Given the description of an element on the screen output the (x, y) to click on. 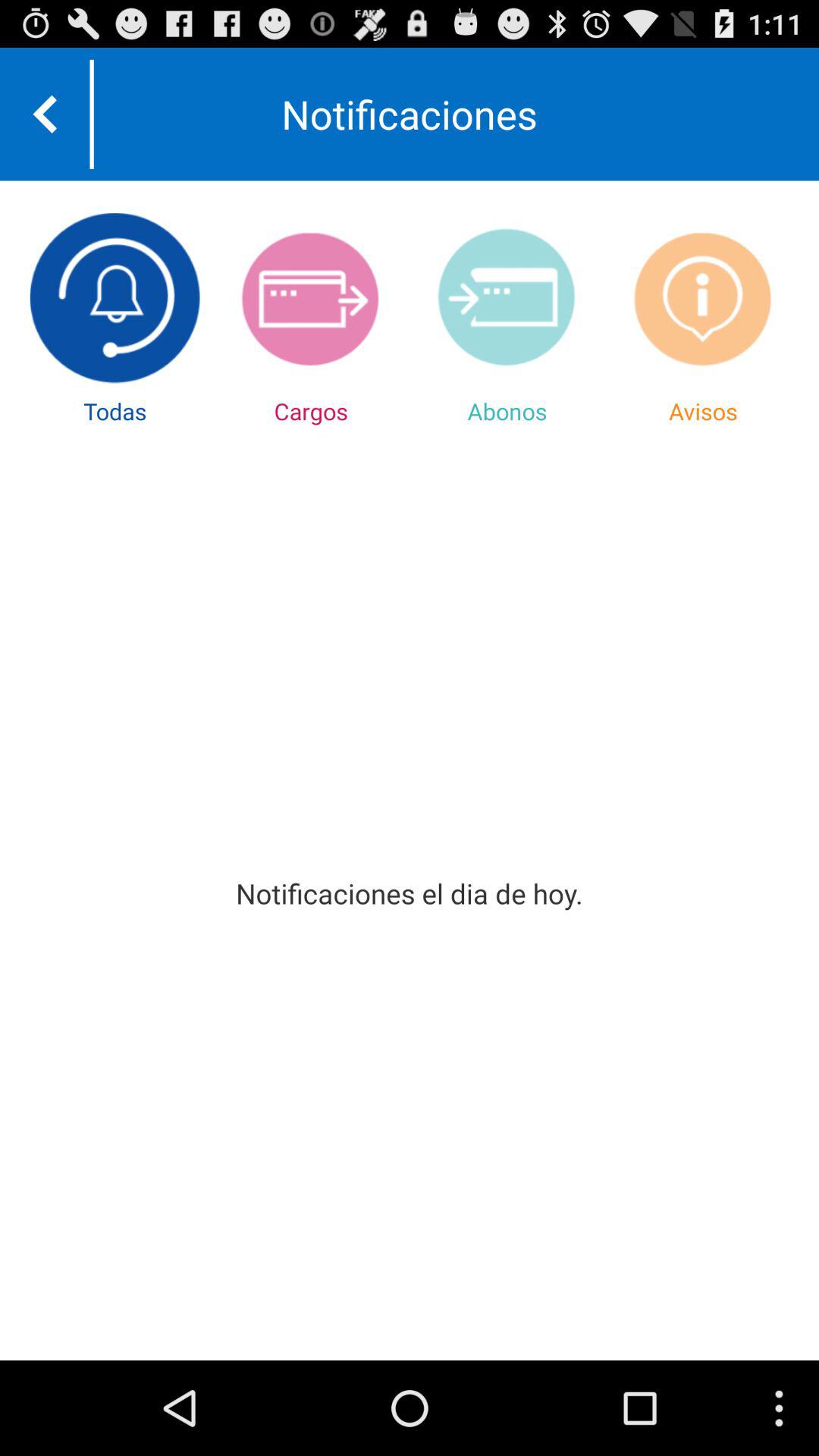
go back (44, 113)
